Given the description of an element on the screen output the (x, y) to click on. 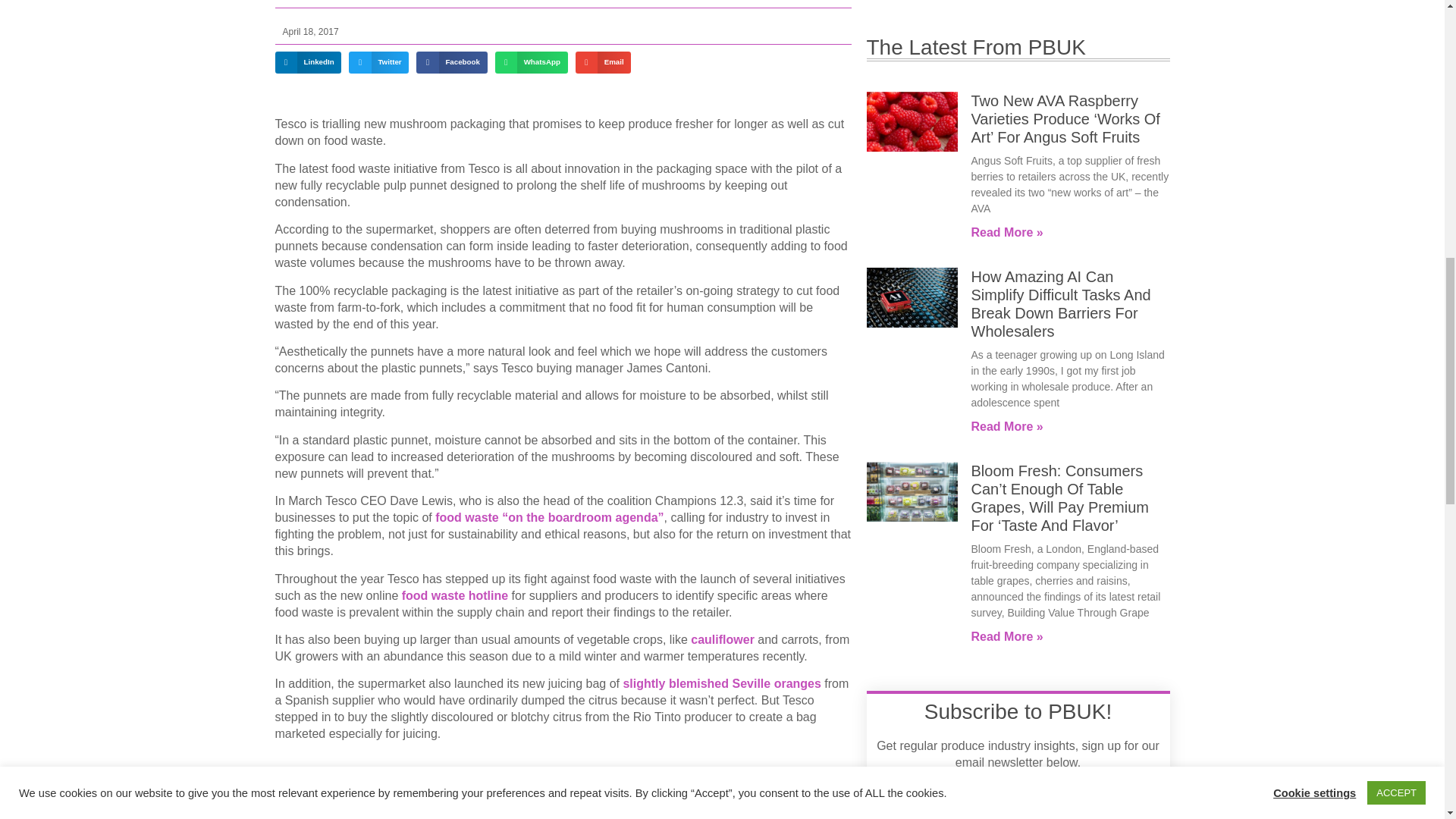
food waste hotline (456, 594)
cauliflower (722, 639)
slightly blemished Seville oranges (723, 683)
